Given the description of an element on the screen output the (x, y) to click on. 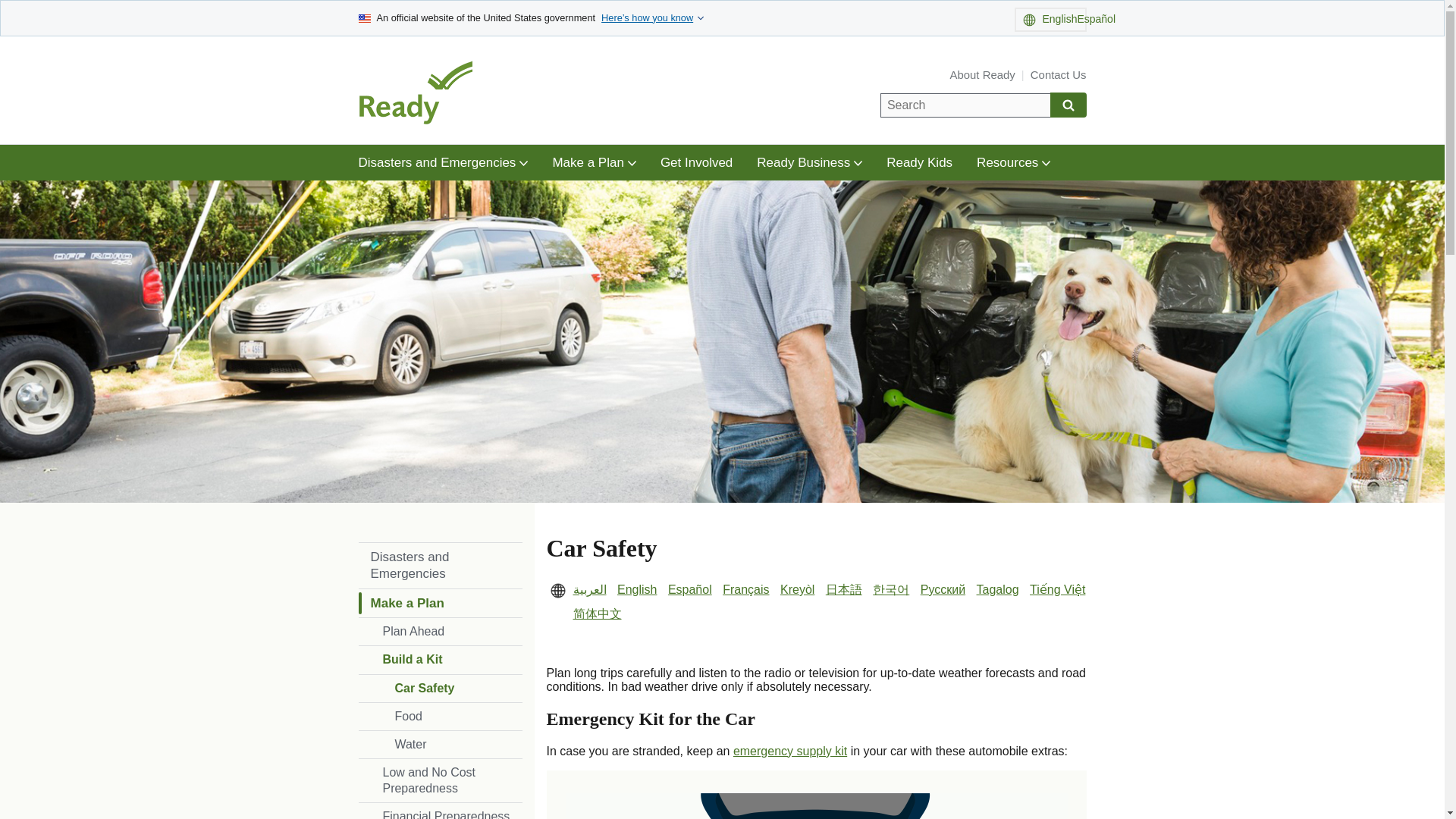
Financial Preparedness (439, 811)
Contact Us (1058, 74)
Disasters and Emergencies (443, 162)
Car Safety (439, 687)
Water (439, 744)
Search (1067, 104)
Build a Kit (439, 659)
Get Involved (695, 162)
Plan Ahead (439, 631)
Ready Kids (919, 162)
Ready Business (809, 162)
About Ready (982, 74)
Food (439, 716)
Resources (1012, 162)
Low and No Cost Preparedness (439, 780)
